Given the description of an element on the screen output the (x, y) to click on. 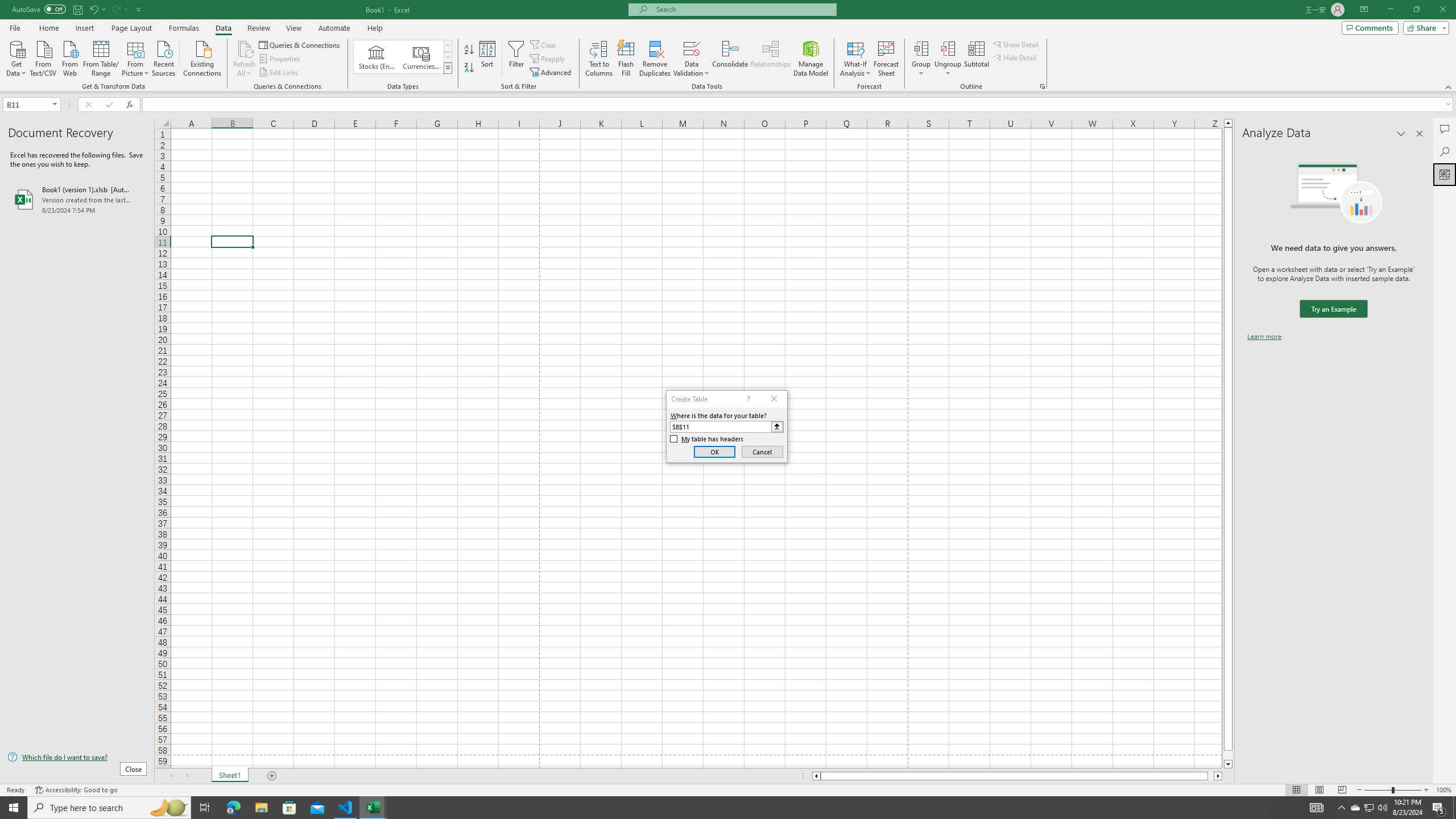
Consolidate... (729, 58)
